Given the description of an element on the screen output the (x, y) to click on. 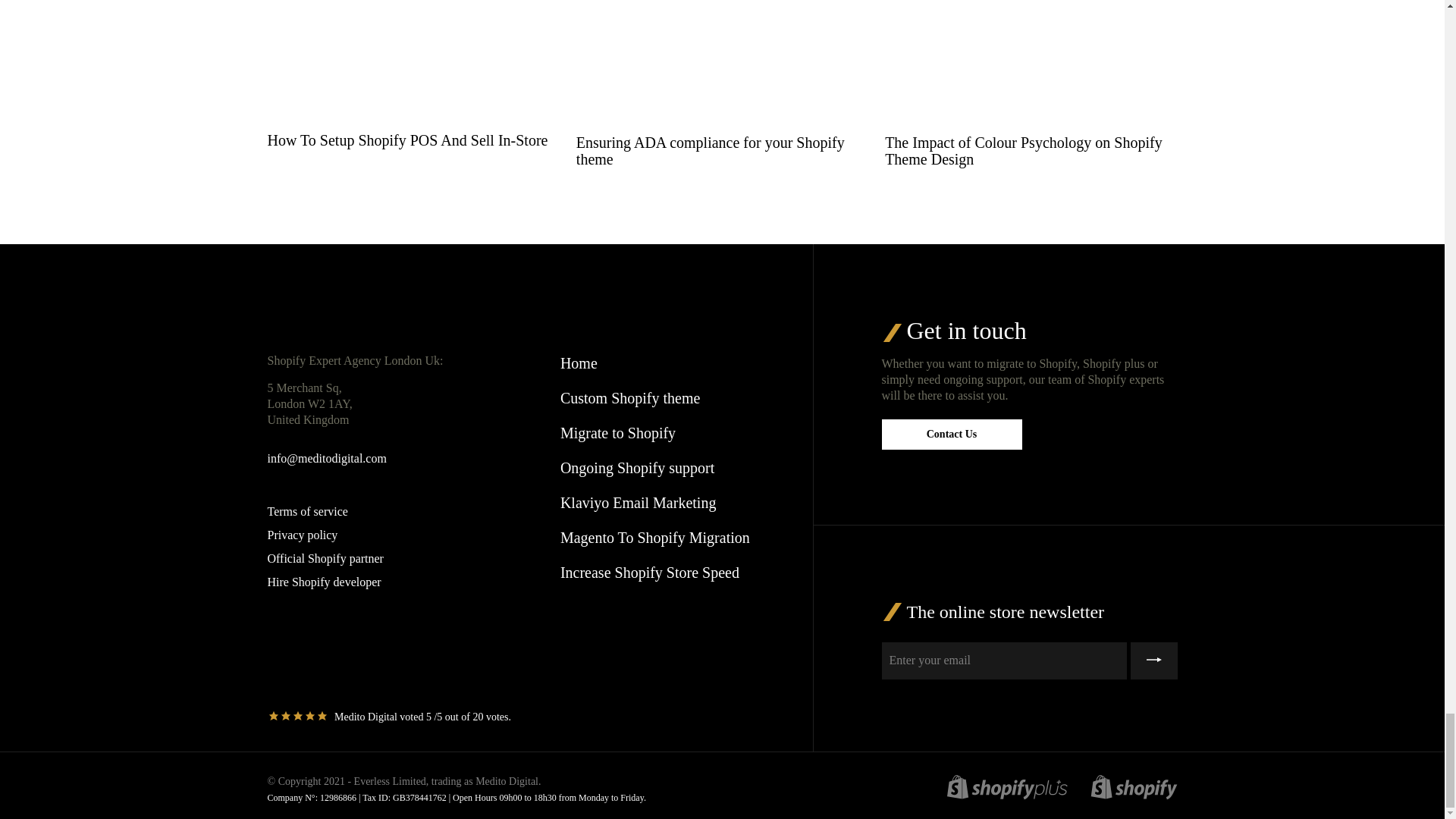
Terms of service (306, 511)
Privacy policy (301, 534)
